Given the description of an element on the screen output the (x, y) to click on. 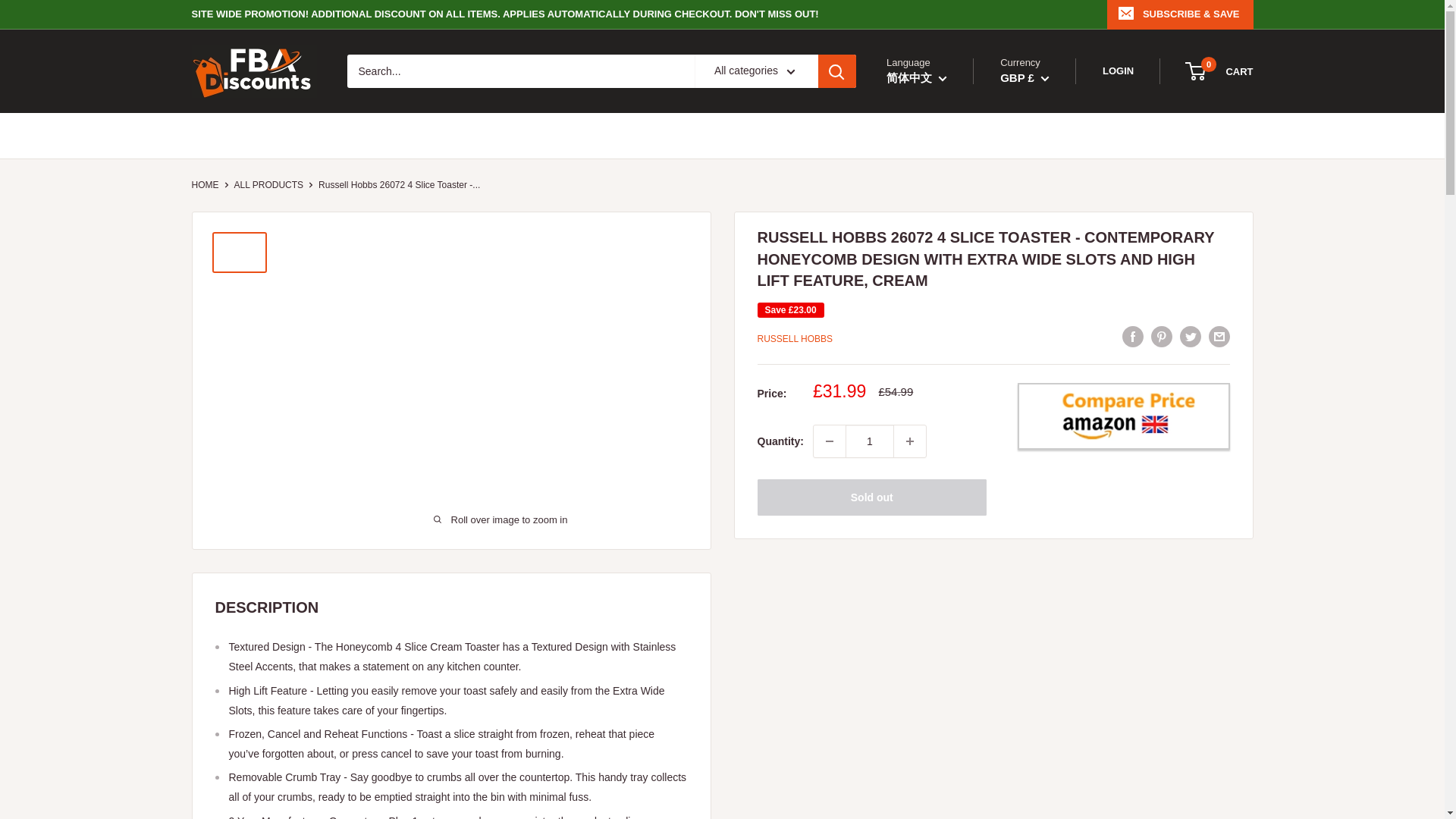
FBA DISCOUNTS (252, 71)
ALL PRODUCTS (267, 184)
1 (869, 441)
en (932, 115)
RUSSELL HOBBS (794, 338)
EUR (1035, 115)
LOGIN (1118, 71)
HOME (1219, 70)
Decrease quantity by 1 (204, 184)
